Given the description of an element on the screen output the (x, y) to click on. 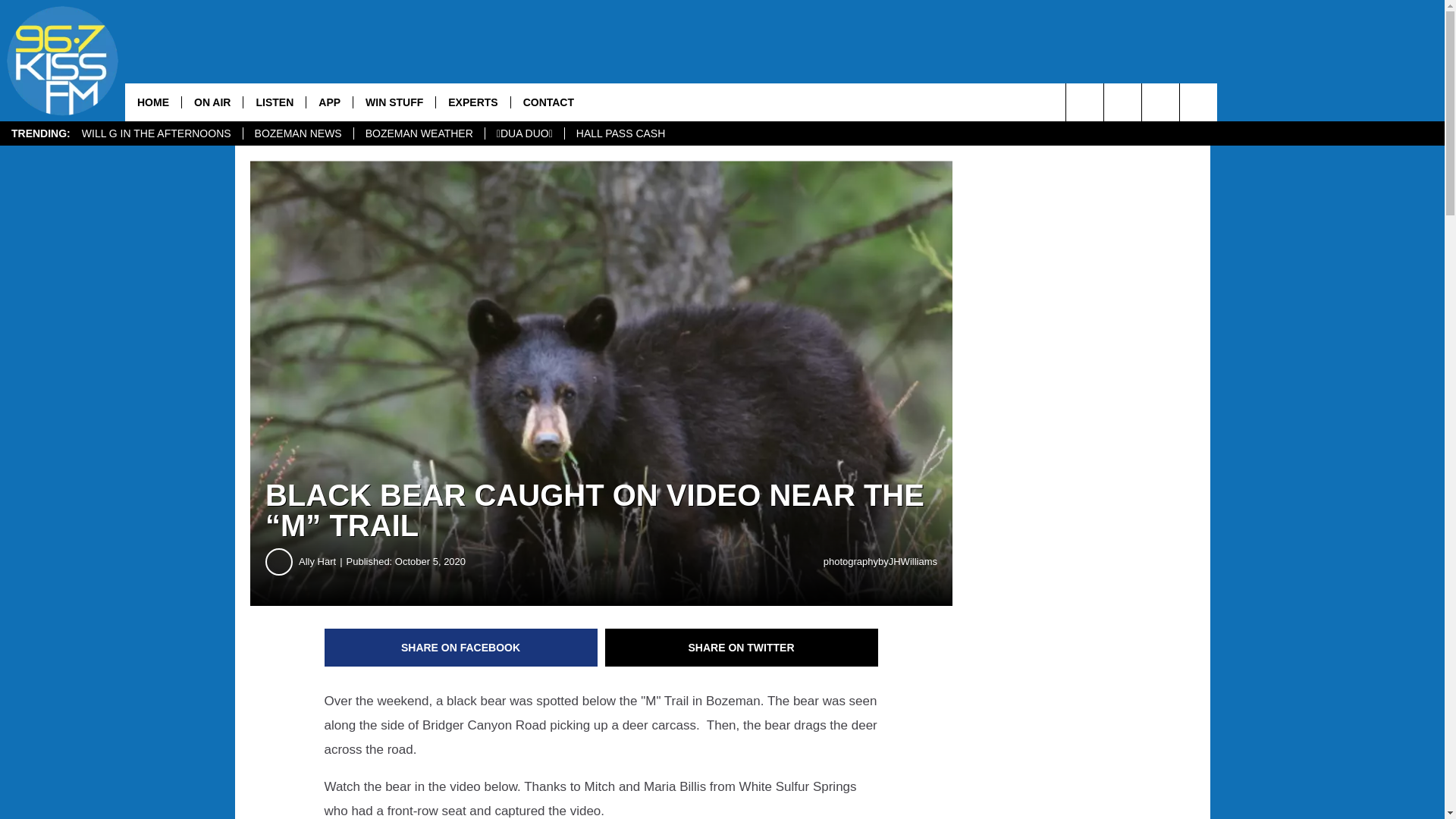
CONTACT (548, 102)
APP (328, 102)
BOZEMAN WEATHER (418, 133)
LISTEN (274, 102)
Share on Facebook (460, 647)
Share on Twitter (741, 647)
HALL PASS CASH (620, 133)
EXPERTS (472, 102)
HOME (152, 102)
WIN STUFF (393, 102)
WILL G IN THE AFTERNOONS (156, 133)
BOZEMAN NEWS (298, 133)
ON AIR (211, 102)
